Given the description of an element on the screen output the (x, y) to click on. 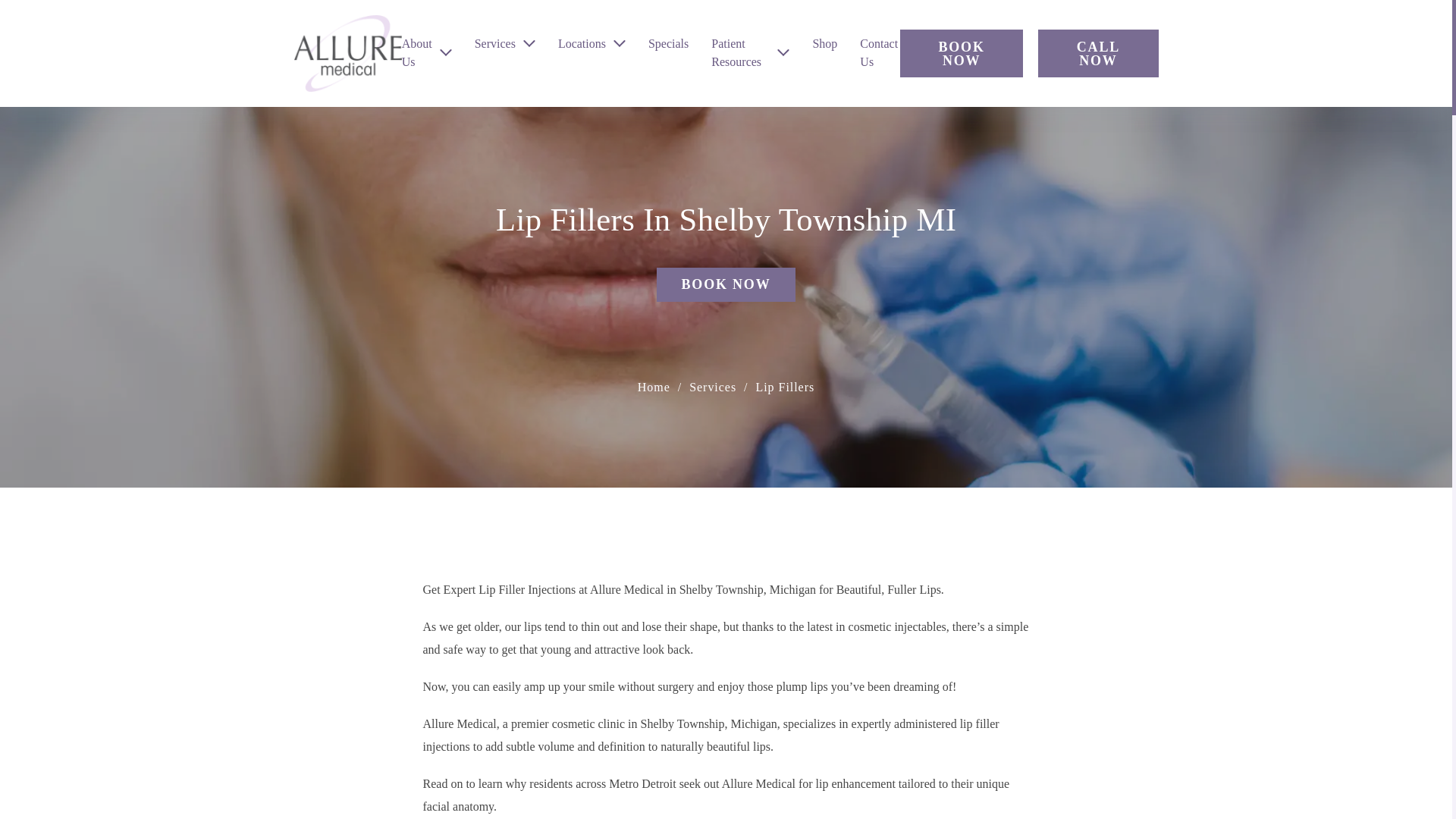
Services (494, 44)
